Given the description of an element on the screen output the (x, y) to click on. 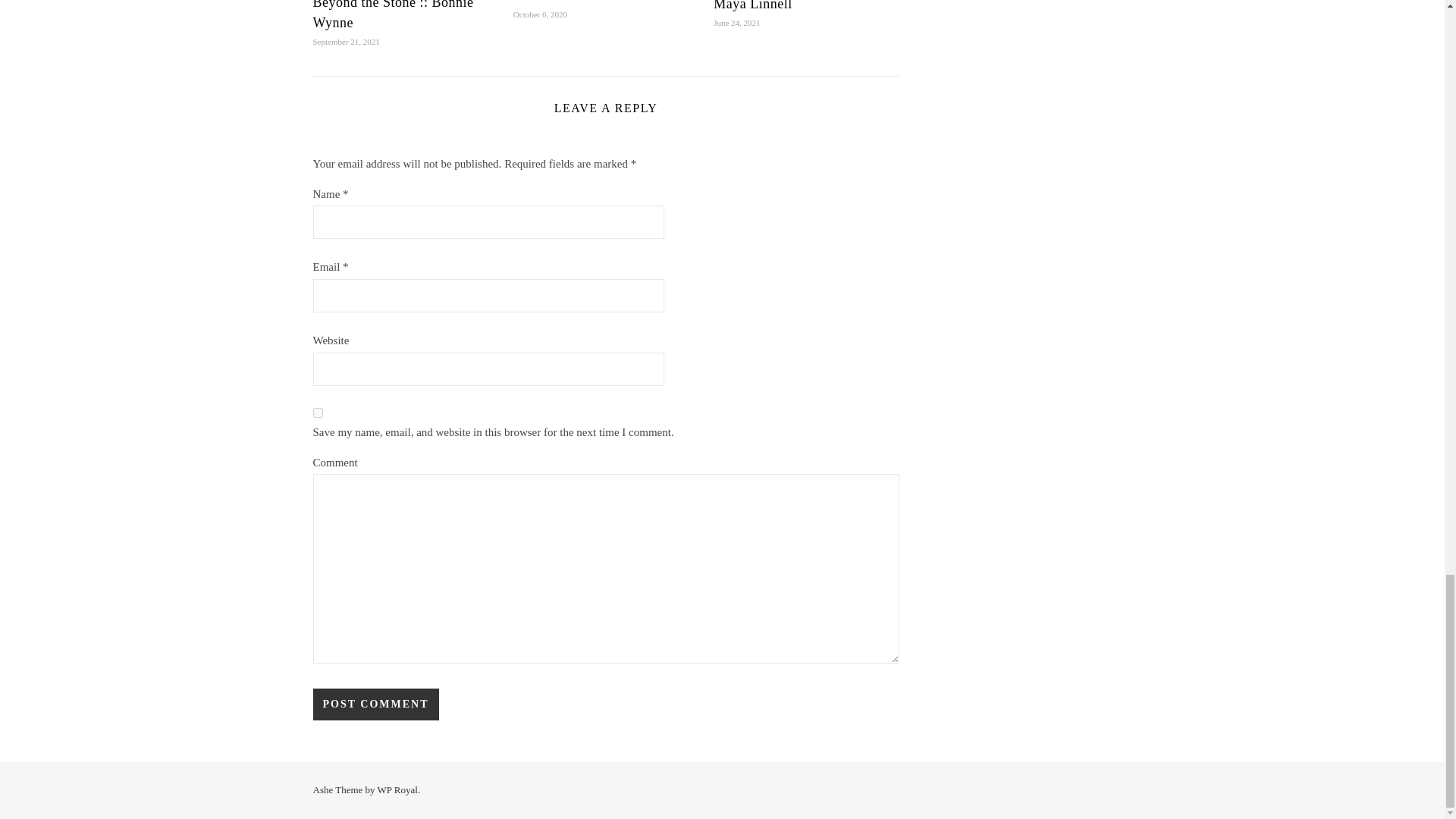
Review :: PIRANESI :: Susanna Clarke (581, 1)
yes (317, 412)
Post Comment (375, 704)
Post Comment (375, 704)
